Given the description of an element on the screen output the (x, y) to click on. 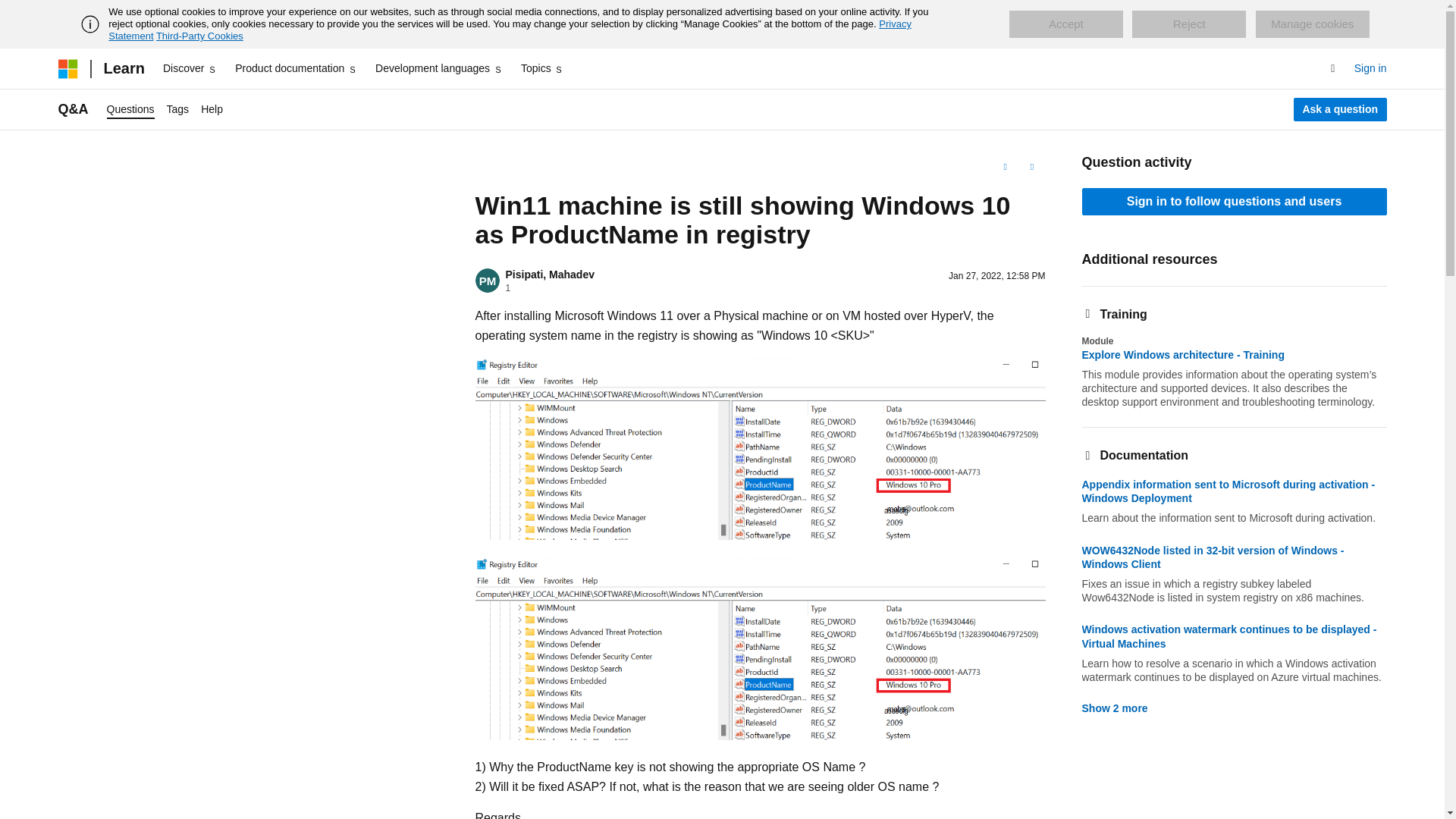
Discover (189, 68)
Product documentation (295, 68)
Third-Party Cookies (199, 35)
Learn (123, 68)
Share this question (1031, 166)
Pisipati, Mahadev (549, 274)
Development languages (438, 68)
Reject (1189, 23)
Sign in (1370, 68)
Accept (1065, 23)
